Given the description of an element on the screen output the (x, y) to click on. 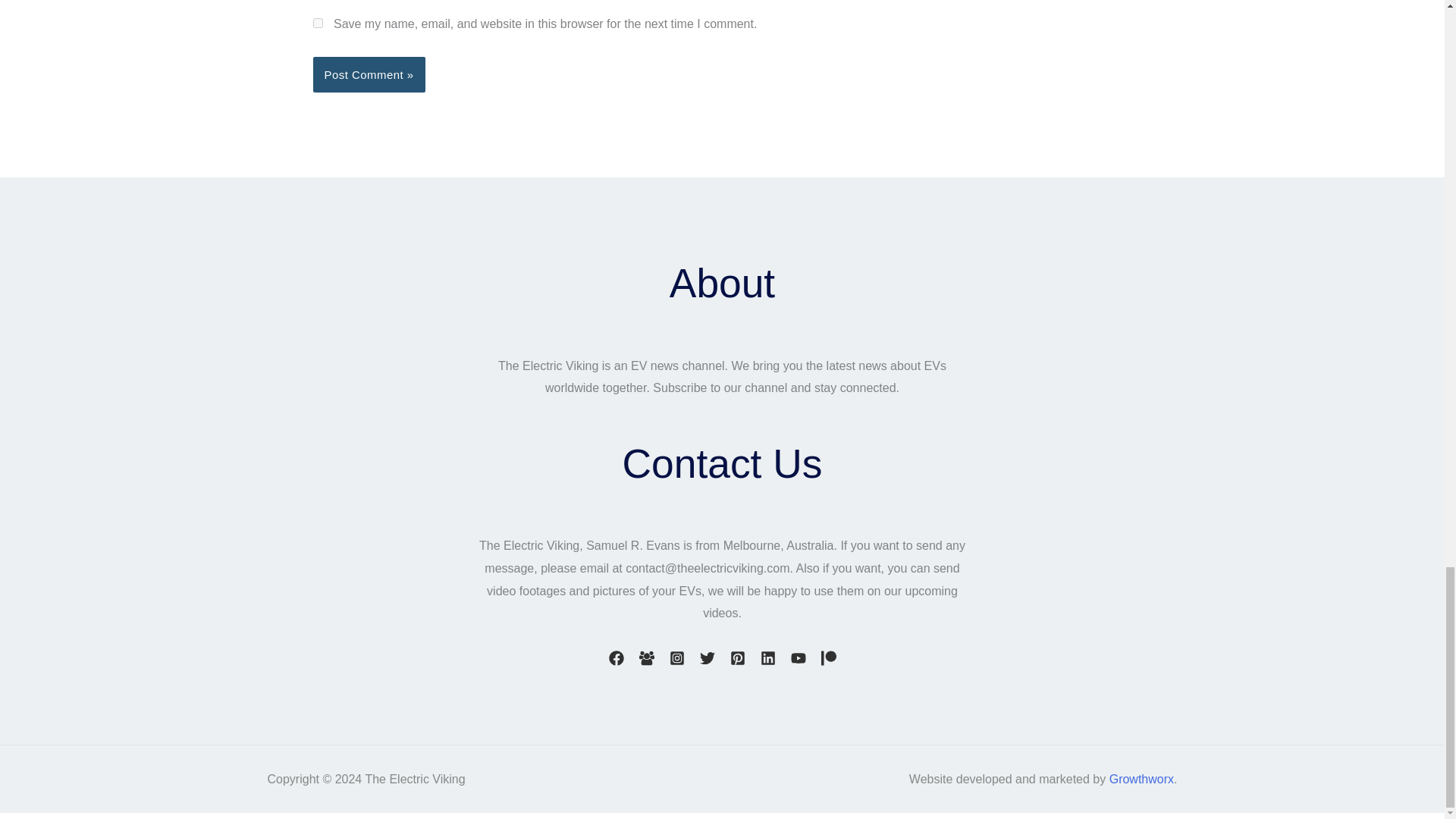
yes (317, 22)
Growthworx (1141, 779)
